Given the description of an element on the screen output the (x, y) to click on. 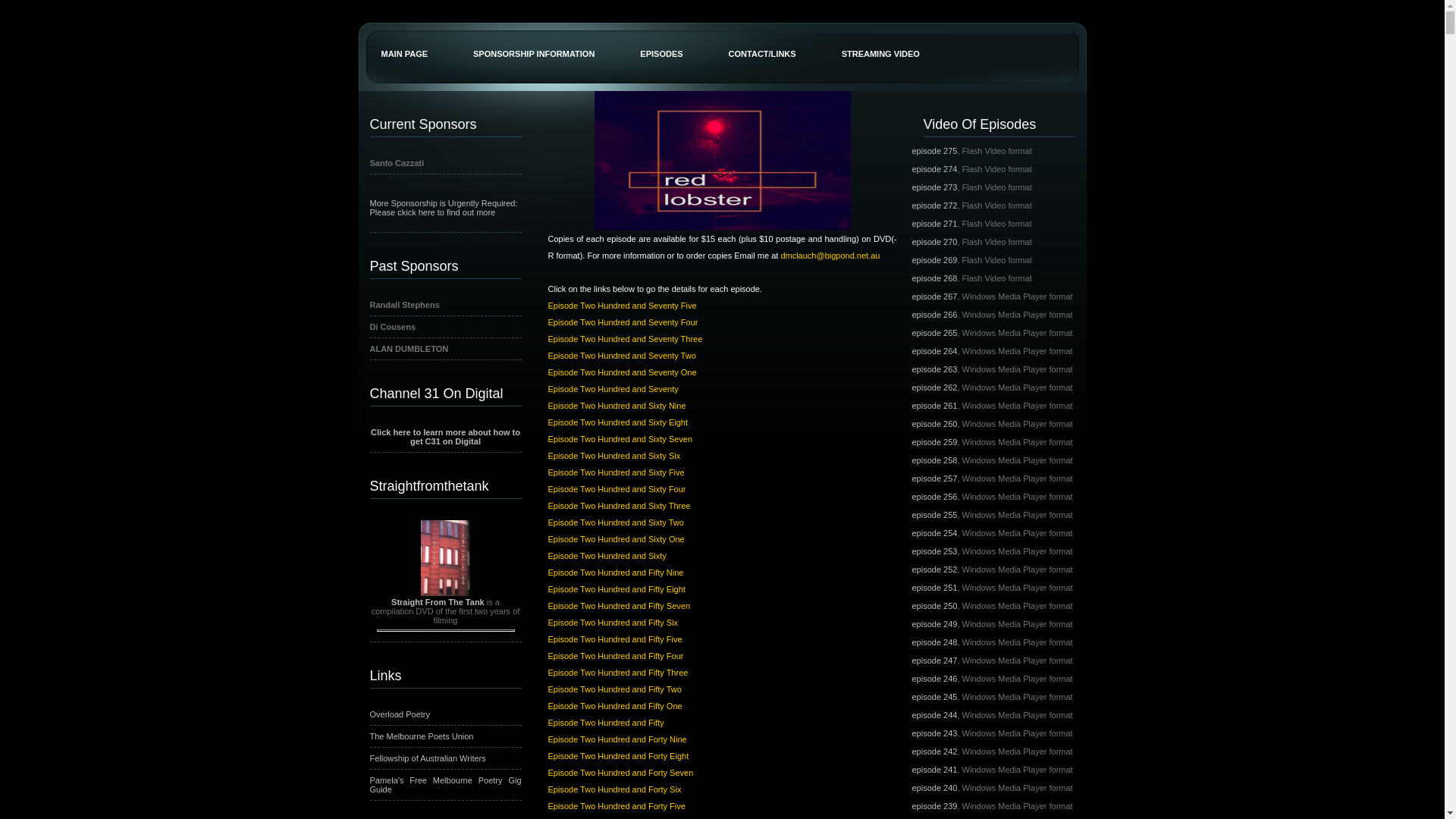
episode 257 Element type: text (934, 478)
Episode Two Hundred and Fifty Three Element type: text (617, 672)
Episode Two Hundred and Seventy One Element type: text (621, 371)
SPONSORSHIP INFORMATION Element type: text (533, 38)
Episode Two Hundred and Fifty Four Element type: text (615, 655)
episode 266 Element type: text (934, 314)
episode 271 Element type: text (934, 223)
Episode Two Hundred and Fifty Nine Element type: text (615, 572)
STREAMING VIDEO Element type: text (880, 38)
episode 244 Element type: text (934, 714)
episode 260 Element type: text (934, 423)
episode 274 Element type: text (934, 168)
Episode Two Hundred and Sixty One Element type: text (615, 538)
episode 246 Element type: text (934, 678)
Episode Two Hundred and Forty Six Element type: text (613, 788)
Episode Two Hundred and Seventy Four Element type: text (622, 321)
episode 273 Element type: text (934, 186)
EPISODES Element type: text (661, 38)
Overload Poetry Element type: text (399, 713)
episode 252 Element type: text (934, 569)
Straight From The Tank Element type: text (437, 601)
MAIN PAGE Element type: text (403, 38)
Episode Two Hundred and Forty Eight Element type: text (617, 755)
Pamela's Free Melbourne Poetry Gig Guide Element type: text (445, 784)
Episode Two Hundred and Fifty Element type: text (605, 722)
episode 245 Element type: text (934, 696)
Episode Two Hundred and Fifty Six Element type: text (612, 622)
episode 275 Element type: text (934, 150)
Episode Two Hundred and Sixty Six Element type: text (613, 455)
Episode Two Hundred and Fifty One Element type: text (614, 705)
episode 272 Element type: text (934, 205)
Episode Two Hundred and Seventy Two Element type: text (621, 355)
episode 270 Element type: text (934, 241)
Episode Two Hundred and Sixty Two Element type: text (615, 522)
Episode Two Hundred and Sixty Three Element type: text (618, 505)
Episode Two Hundred and Sixty Four Element type: text (616, 488)
episode 268 Element type: text (934, 277)
episode 253 Element type: text (934, 550)
episode 248 Element type: text (934, 641)
Fellowship of Australian Writers Element type: text (428, 757)
episode 267 Element type: text (934, 296)
Straightfromthetank Element type: text (444, 482)
Episode Two Hundred and Seventy Three Element type: text (624, 338)
episode 254 Element type: text (934, 532)
episode 264 Element type: text (934, 350)
episode 259 Element type: text (934, 441)
episode 261 Element type: text (934, 405)
Episode Two Hundred and Fifty Eight Element type: text (615, 588)
Episode Two Hundred and Fifty Two Element type: text (613, 688)
dmclauch@bigpond.net.au Element type: text (829, 255)
episode 263 Element type: text (934, 368)
Episode Two Hundred and Fifty Seven Element type: text (618, 605)
episode 249 Element type: text (934, 623)
Click here to learn more about how to get C31 on Digital Element type: text (445, 436)
episode 251 Element type: text (934, 587)
The Melbourne Poets Union Element type: text (421, 735)
Episode Two Hundred and Sixty Element type: text (606, 555)
episode 258 Element type: text (934, 459)
episode 265 Element type: text (934, 332)
episode 256 Element type: text (934, 496)
episode 247 Element type: text (934, 660)
Episode Two Hundred and Forty Nine Element type: text (616, 738)
episode 242 Element type: text (934, 751)
episode 269 Element type: text (934, 259)
episode 239 Element type: text (934, 805)
Episode Two Hundred and Seventy Five Element type: text (621, 305)
episode 262 Element type: text (934, 387)
episode 240 Element type: text (934, 787)
Episode Two Hundred and Sixty Eight Element type: text (617, 421)
Episode Two Hundred and Sixty Five Element type: text (615, 471)
Episode Two Hundred and Sixty Nine Element type: text (616, 405)
CONTACT/LINKS Element type: text (762, 38)
episode 250 Element type: text (934, 605)
episode 255 Element type: text (934, 514)
Episode Two Hundred and Fifty Five Element type: text (614, 638)
episode 241 Element type: text (934, 769)
Episode Two Hundred and Seventy Element type: text (612, 388)
Episode Two Hundred and Forty Seven Element type: text (620, 772)
Episode Two Hundred and Forty Five Element type: text (615, 805)
episode 243 Element type: text (934, 732)
Episode Two Hundred and Sixty Seven Element type: text (619, 438)
